Given the description of an element on the screen output the (x, y) to click on. 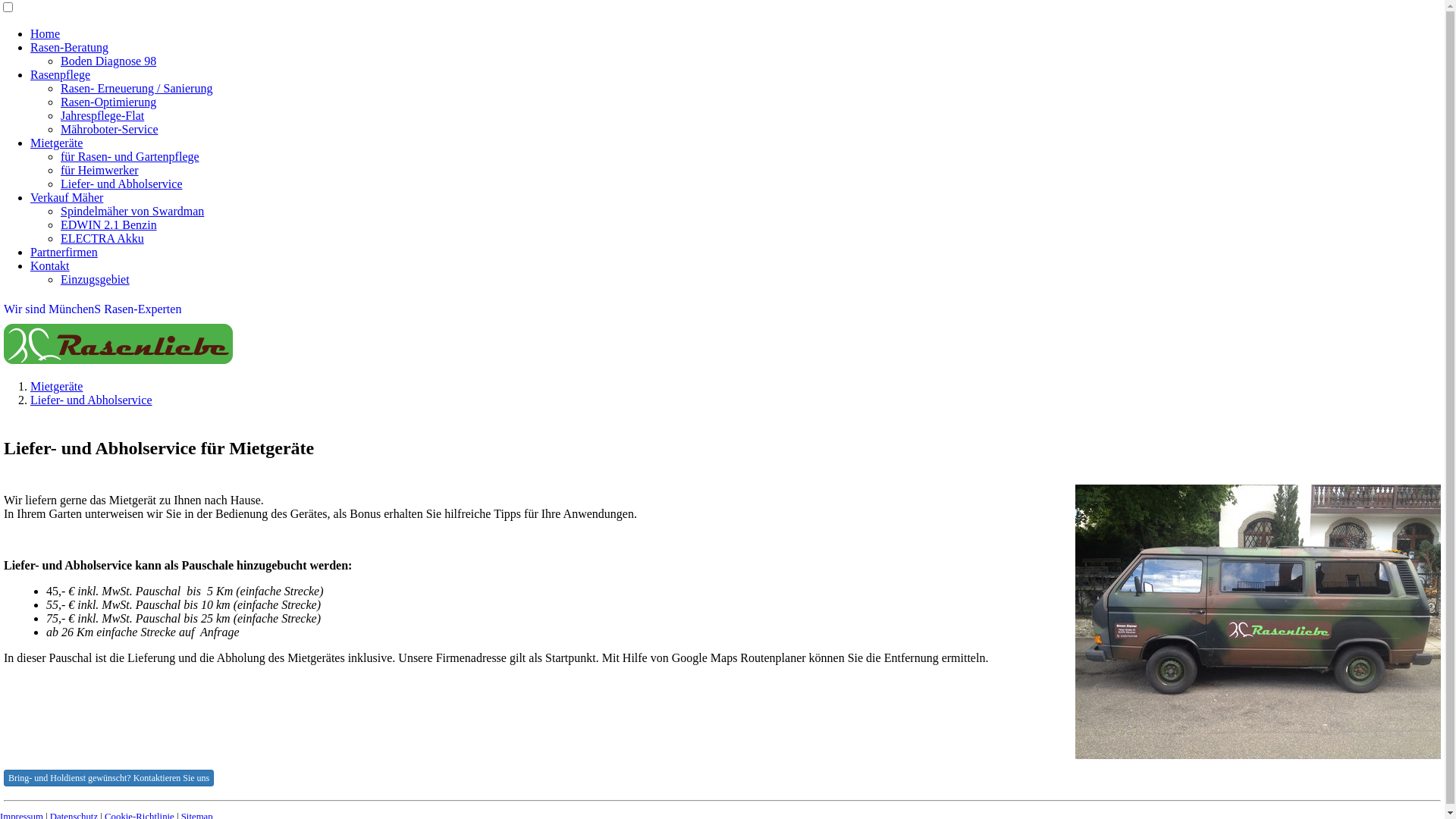
Liefer- und Abholservice Element type: text (91, 399)
Rasen- Erneuerung / Sanierung Element type: text (136, 87)
Einzugsgebiet Element type: text (94, 279)
ELECTRA Akku Element type: text (102, 238)
Kontakt Element type: text (49, 265)
Home Element type: text (44, 33)
Boden Diagnose 98 Element type: text (108, 60)
Rasenpflege Element type: text (60, 74)
Liefer- und Abholservice Element type: text (121, 183)
EDWIN 2.1 Benzin Element type: text (108, 224)
Rasen-Beratung Element type: text (69, 46)
Jahrespflege-Flat Element type: text (102, 115)
Rasen-Optimierung Element type: text (108, 101)
Partnerfirmen Element type: text (63, 251)
